Given the description of an element on the screen output the (x, y) to click on. 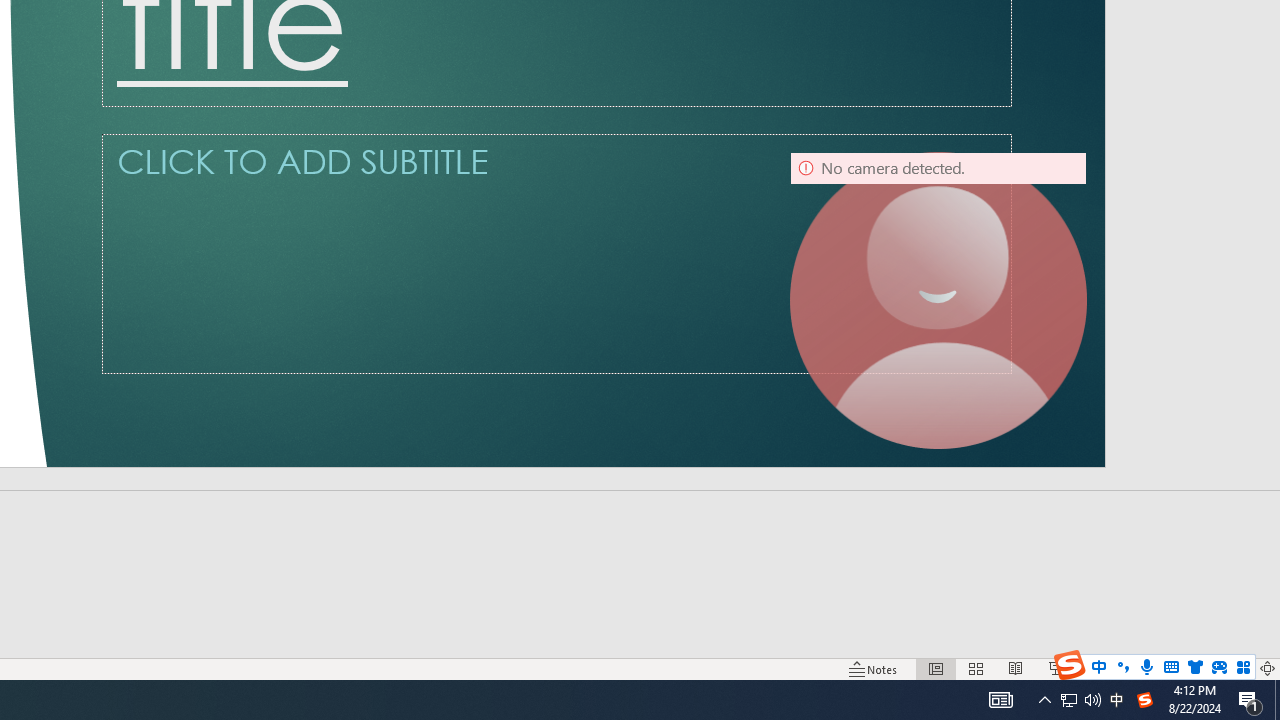
Zoom 140% (1234, 668)
